Given the description of an element on the screen output the (x, y) to click on. 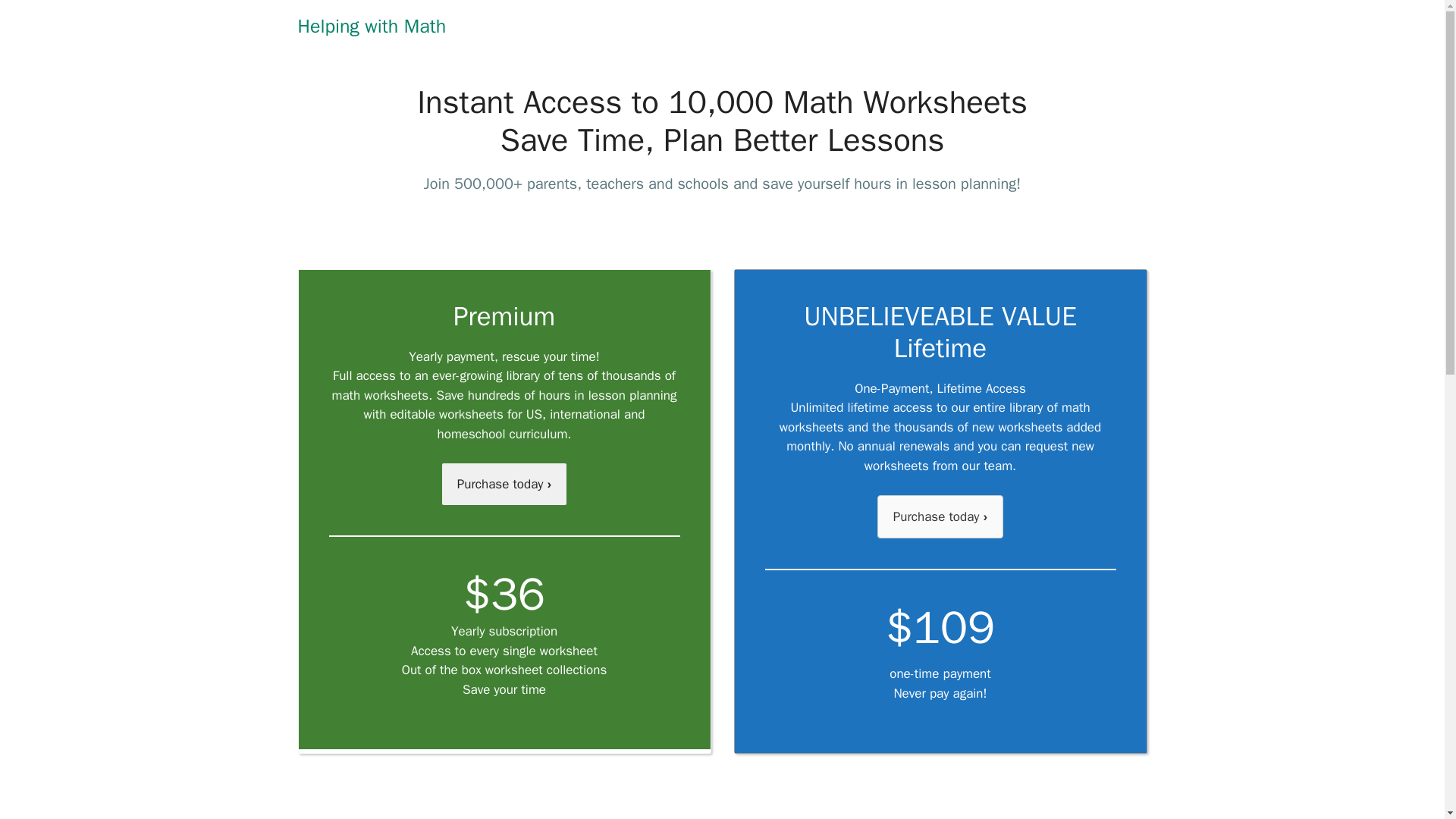
Helping with Math (371, 25)
